Given the description of an element on the screen output the (x, y) to click on. 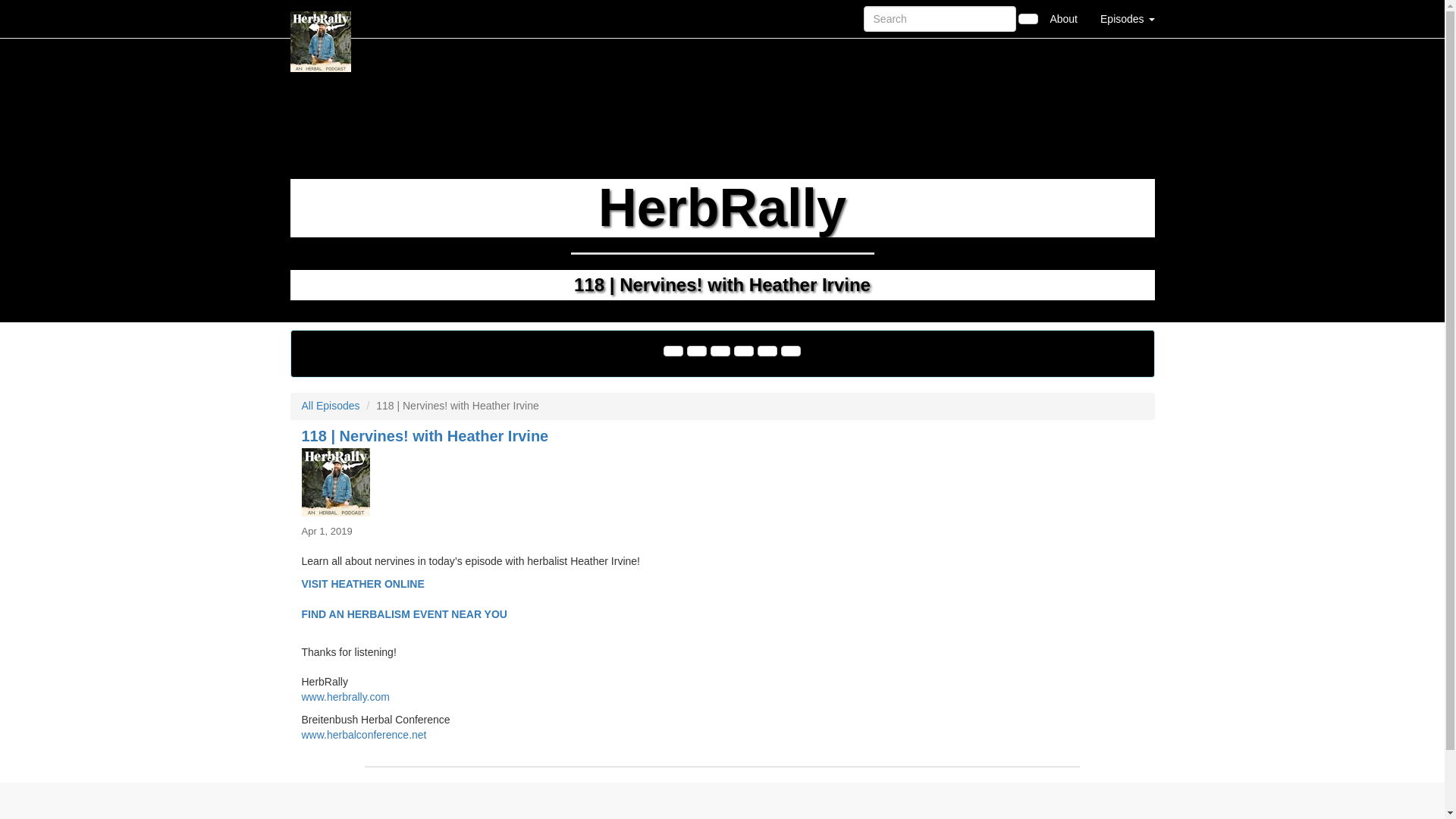
Home Page (320, 18)
Episodes (1127, 18)
About (1063, 18)
